Given the description of an element on the screen output the (x, y) to click on. 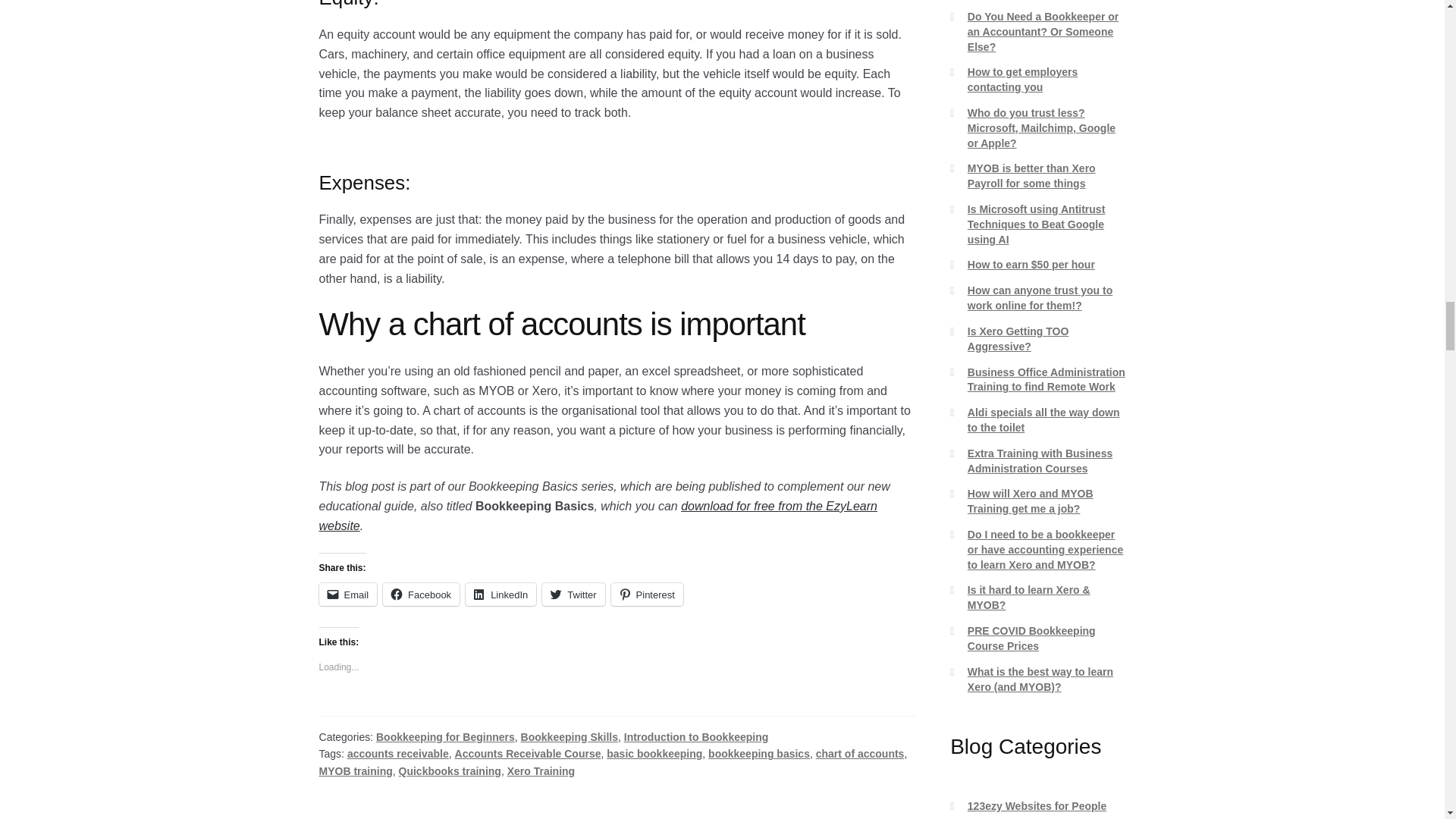
Click to share on LinkedIn (500, 594)
Click to share on Facebook (421, 594)
Click to share on Twitter (572, 594)
Click to email a link to a friend (347, 594)
